Given the description of an element on the screen output the (x, y) to click on. 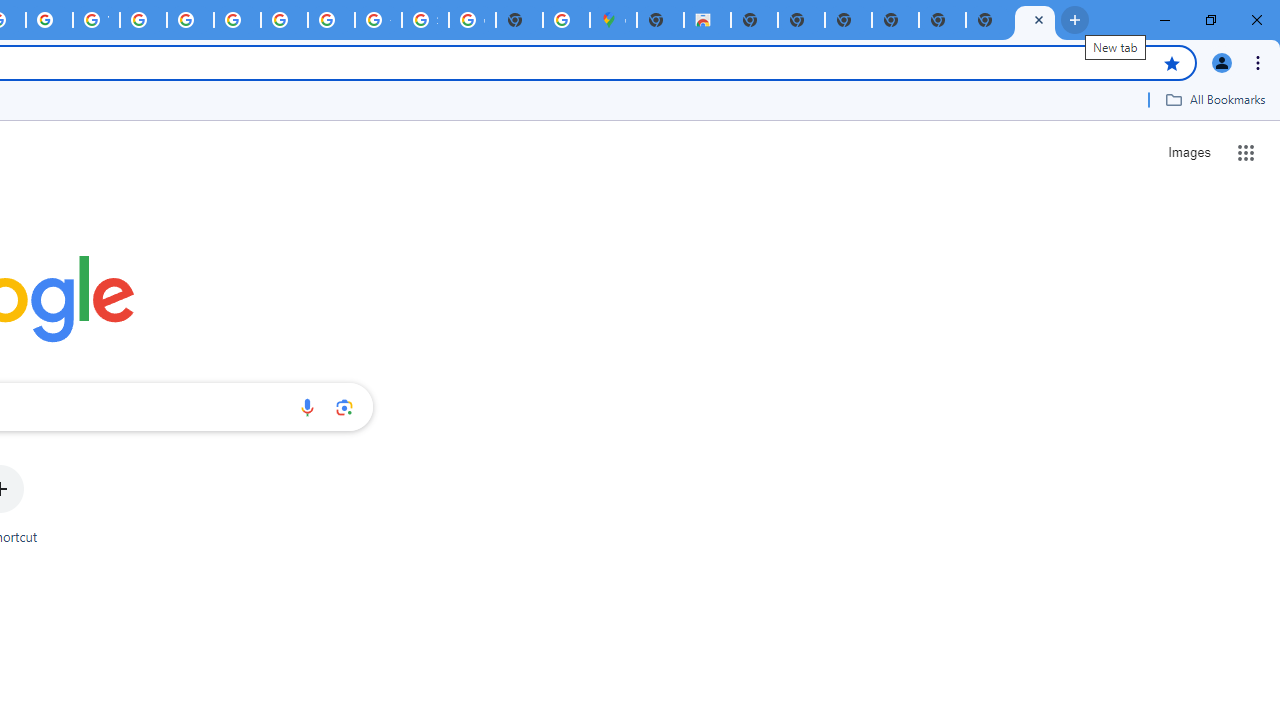
New Tab (660, 20)
Google apps (1245, 152)
Search by voice (307, 407)
Browse Chrome as a guest - Computer - Google Chrome Help (237, 20)
Explore new street-level details - Google Maps Help (566, 20)
Sign in - Google Accounts (425, 20)
Search by image (344, 407)
